Given the description of an element on the screen output the (x, y) to click on. 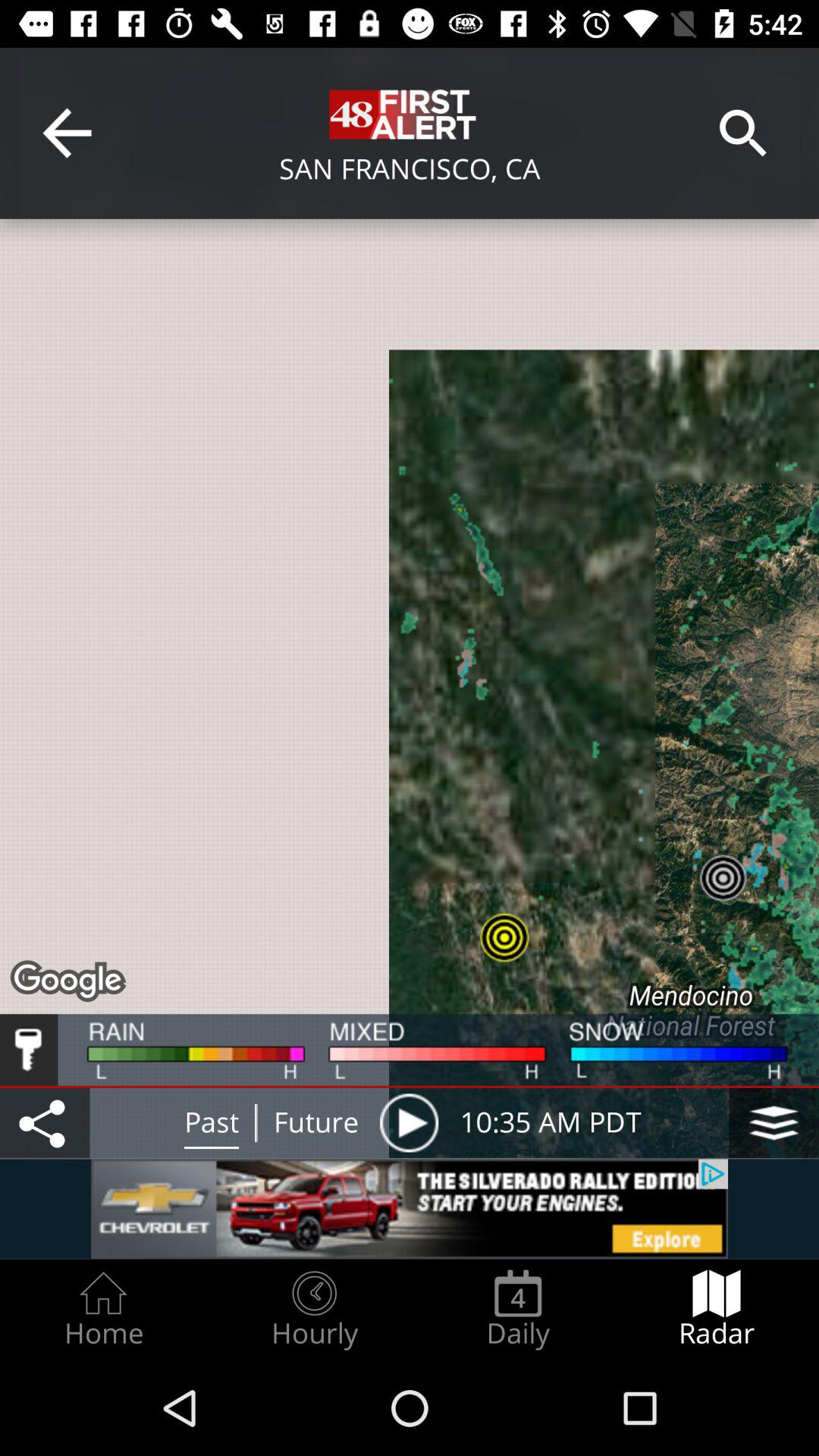
tap icon to the right of the hourly radio button (518, 1309)
